Given the description of an element on the screen output the (x, y) to click on. 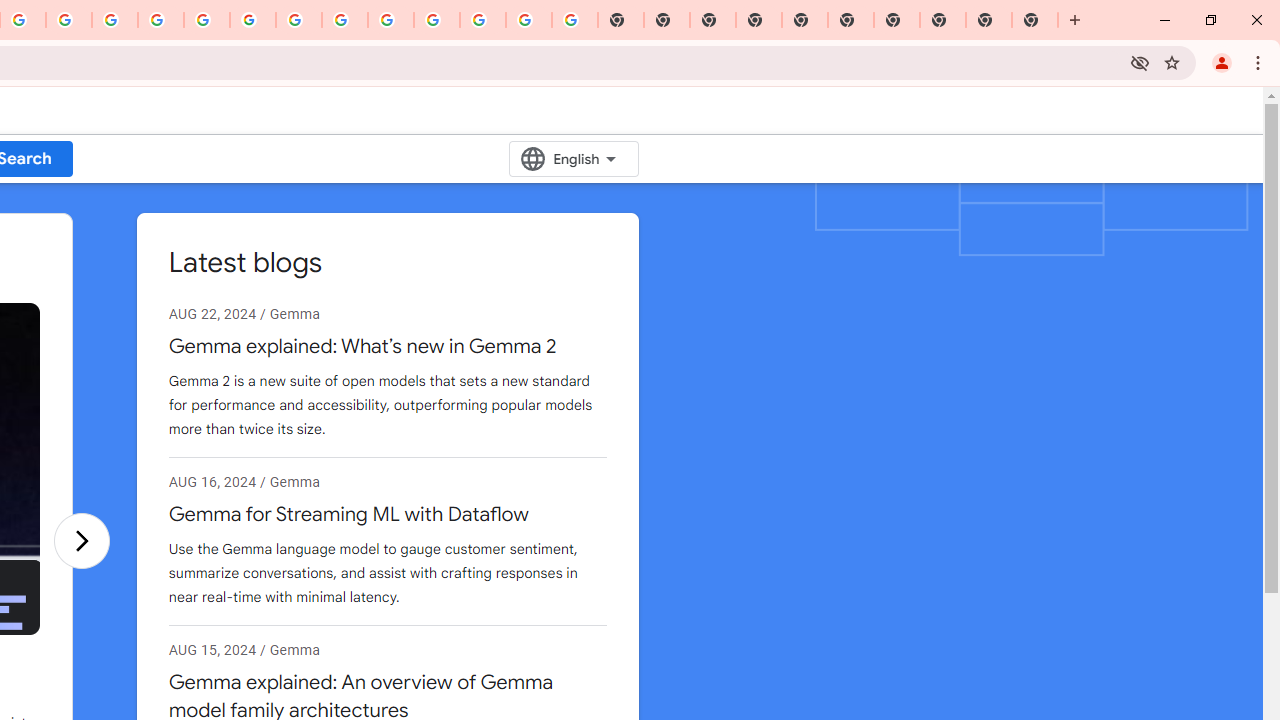
New Tab (1035, 20)
Privacy Help Center - Policies Help (161, 20)
English (574, 159)
